Given the description of an element on the screen output the (x, y) to click on. 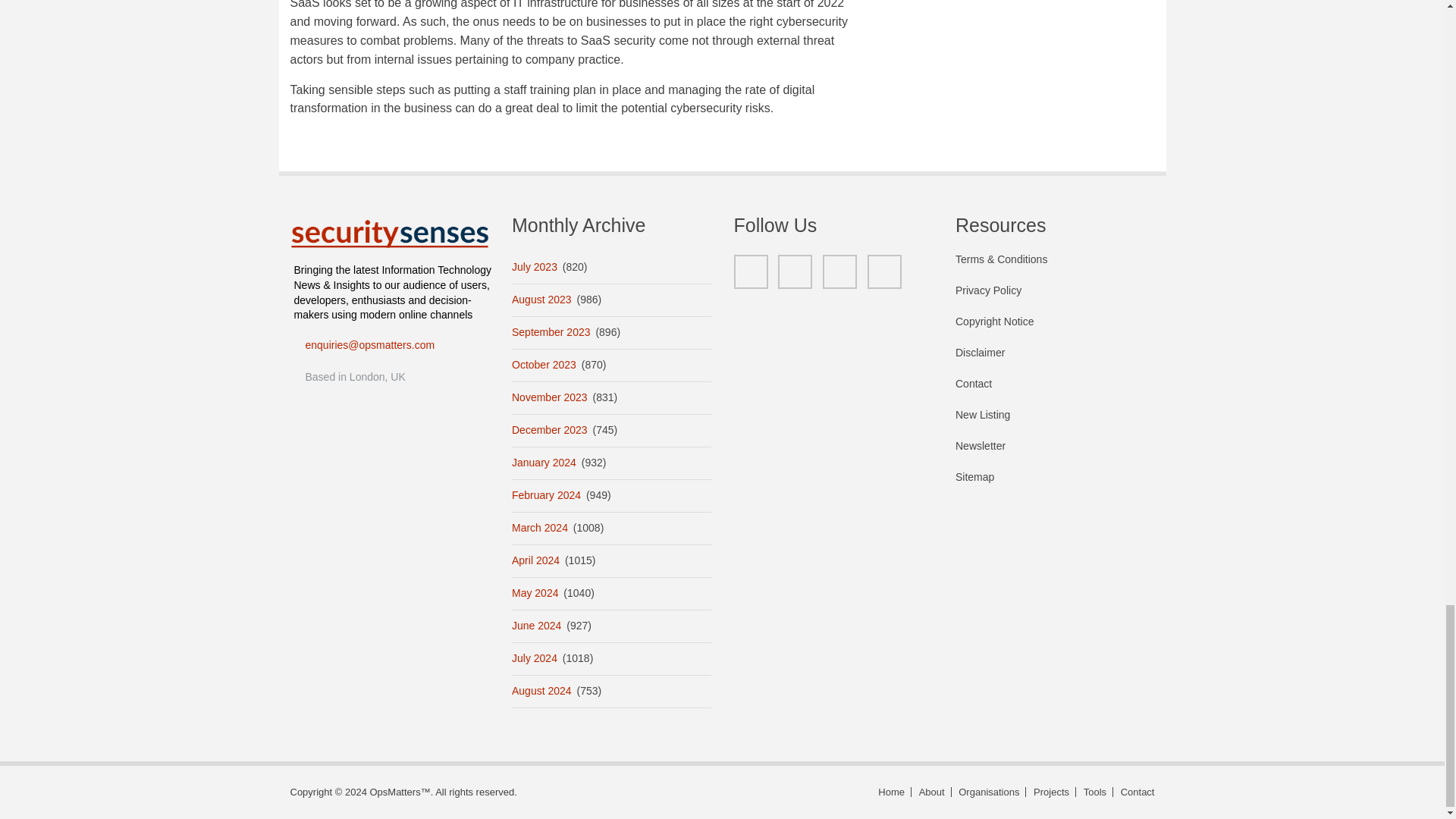
Takes you back to the homepage (892, 791)
Subscribe to our newsletter (1054, 453)
Contact us (1135, 791)
Home (389, 234)
